Given the description of an element on the screen output the (x, y) to click on. 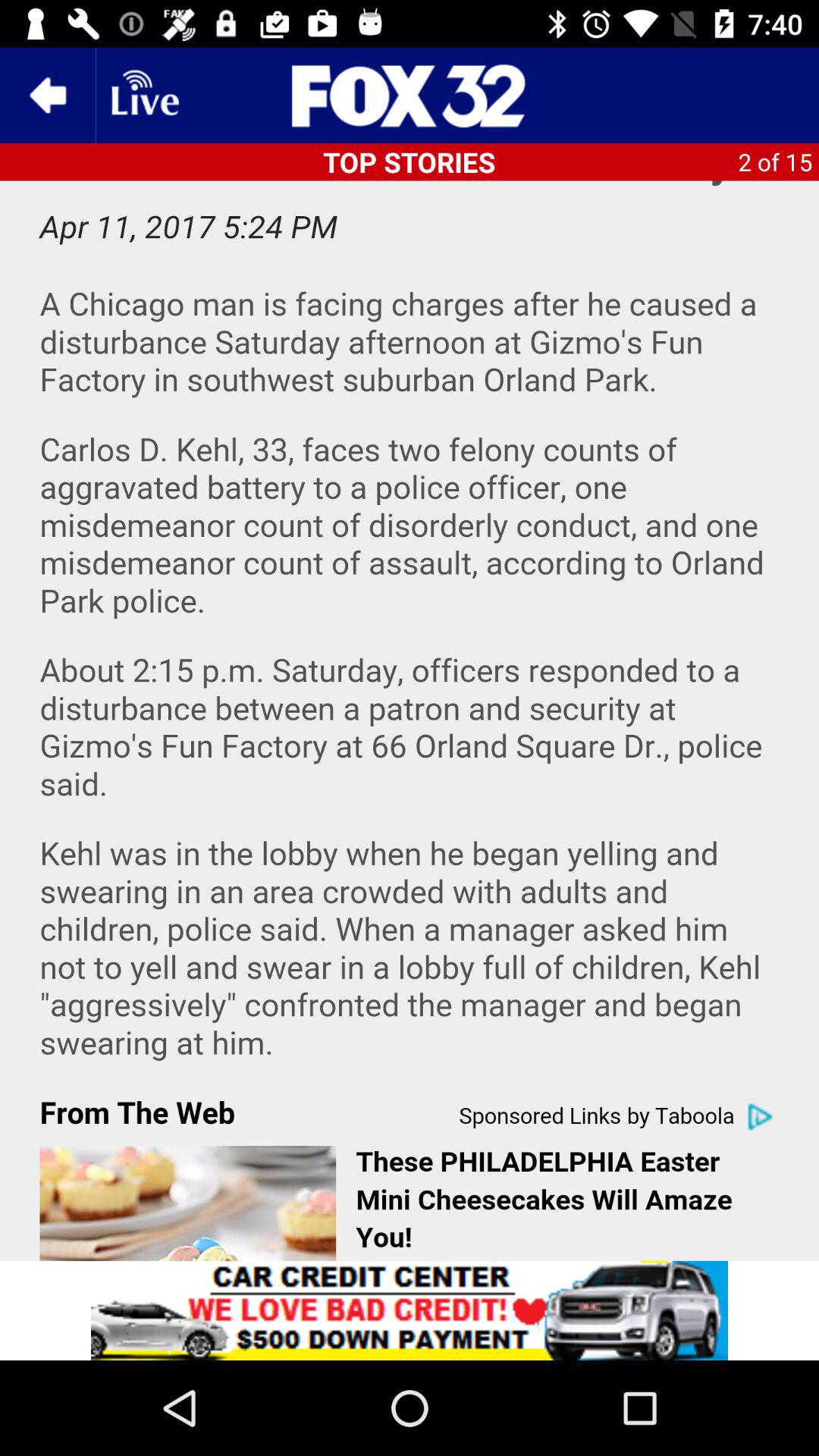
advertisement page (409, 1310)
